Given the description of an element on the screen output the (x, y) to click on. 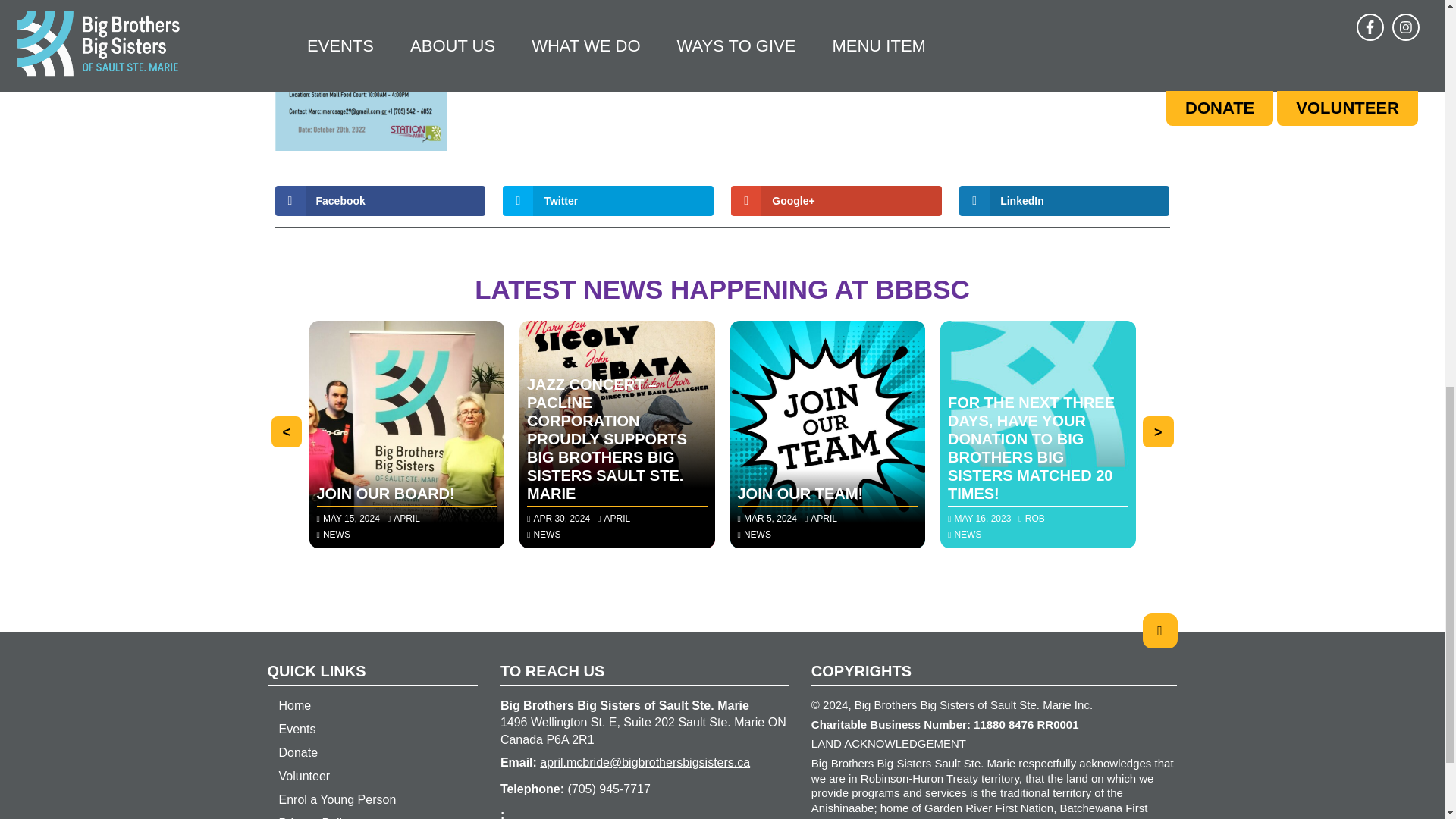
back-to-top (1158, 630)
